Given the description of an element on the screen output the (x, y) to click on. 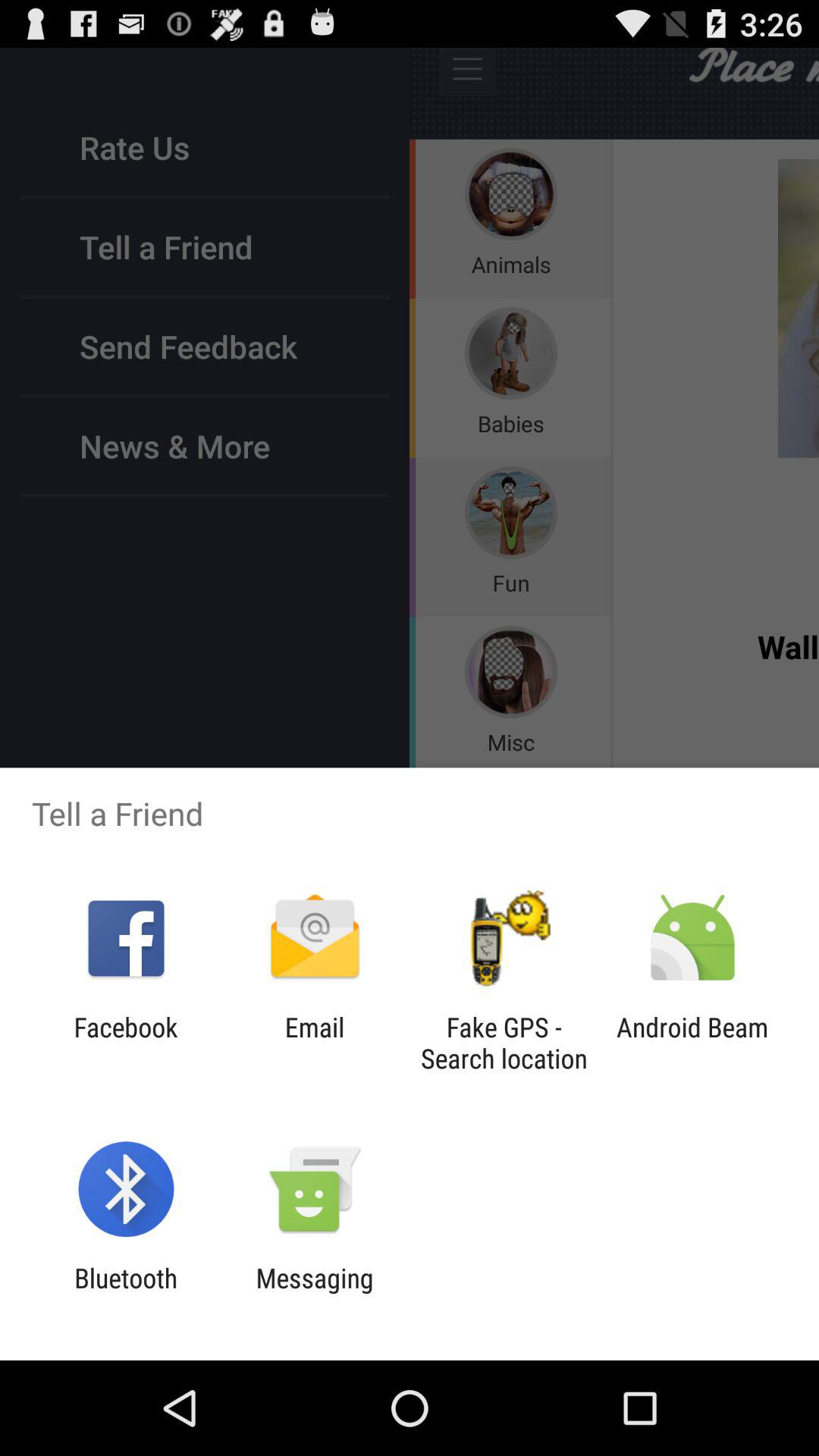
tap the item to the right of the fake gps search icon (692, 1042)
